Given the description of an element on the screen output the (x, y) to click on. 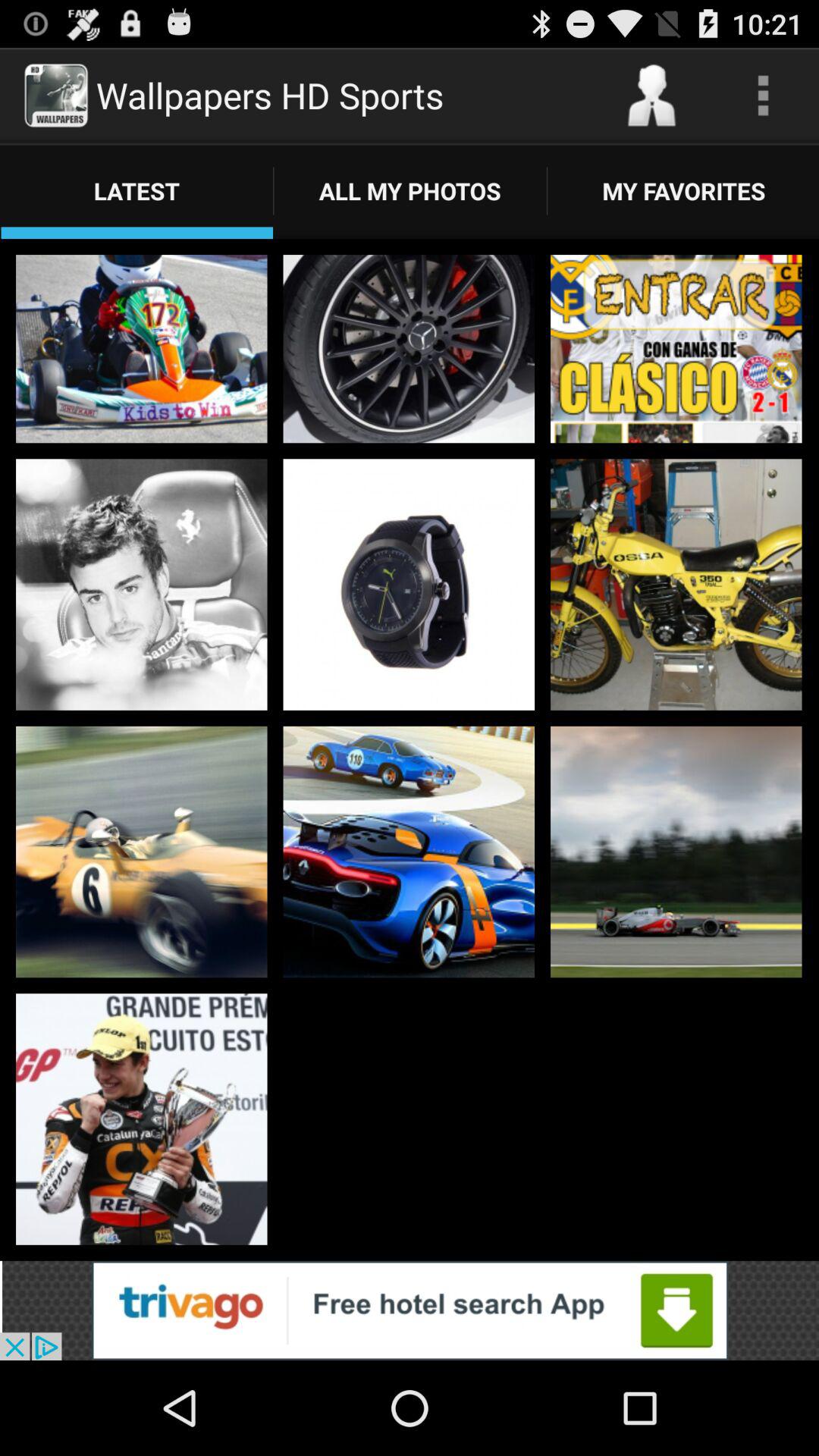
options (763, 95)
